Given the description of an element on the screen output the (x, y) to click on. 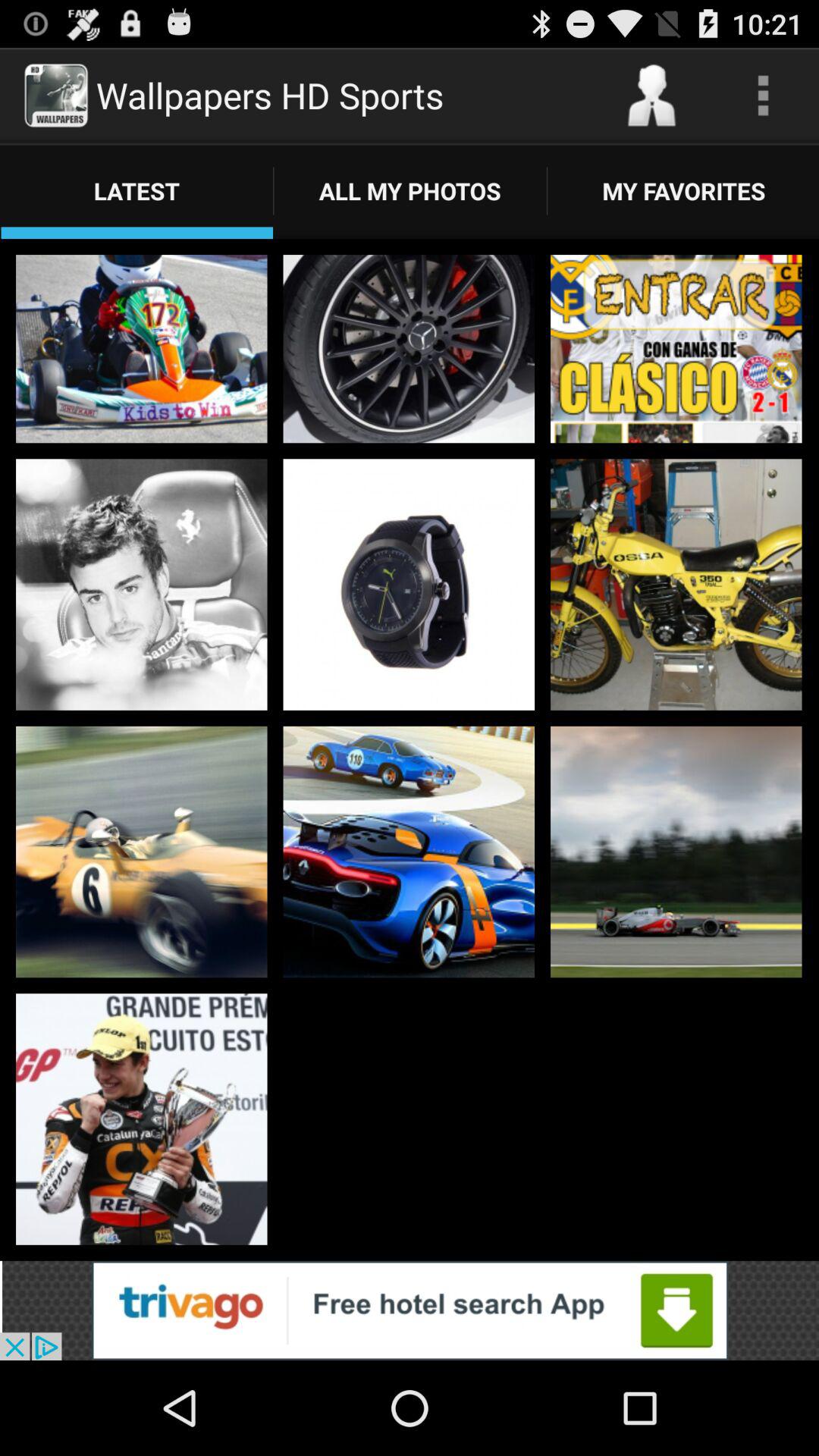
options (763, 95)
